Given the description of an element on the screen output the (x, y) to click on. 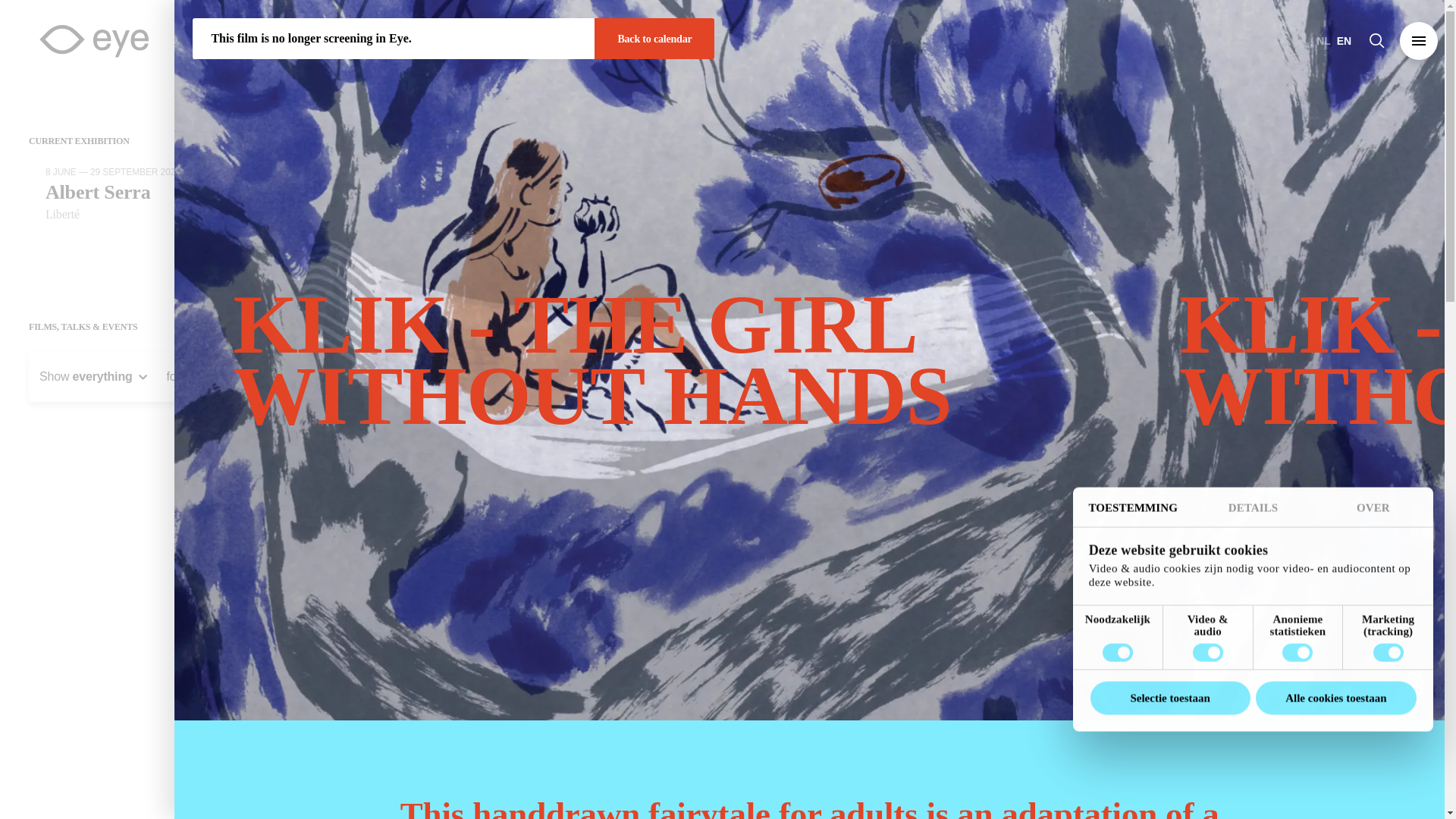
English (1343, 40)
Search (1378, 40)
View highlights (640, 41)
Nederlands (1323, 40)
Menu (1418, 40)
